Given the description of an element on the screen output the (x, y) to click on. 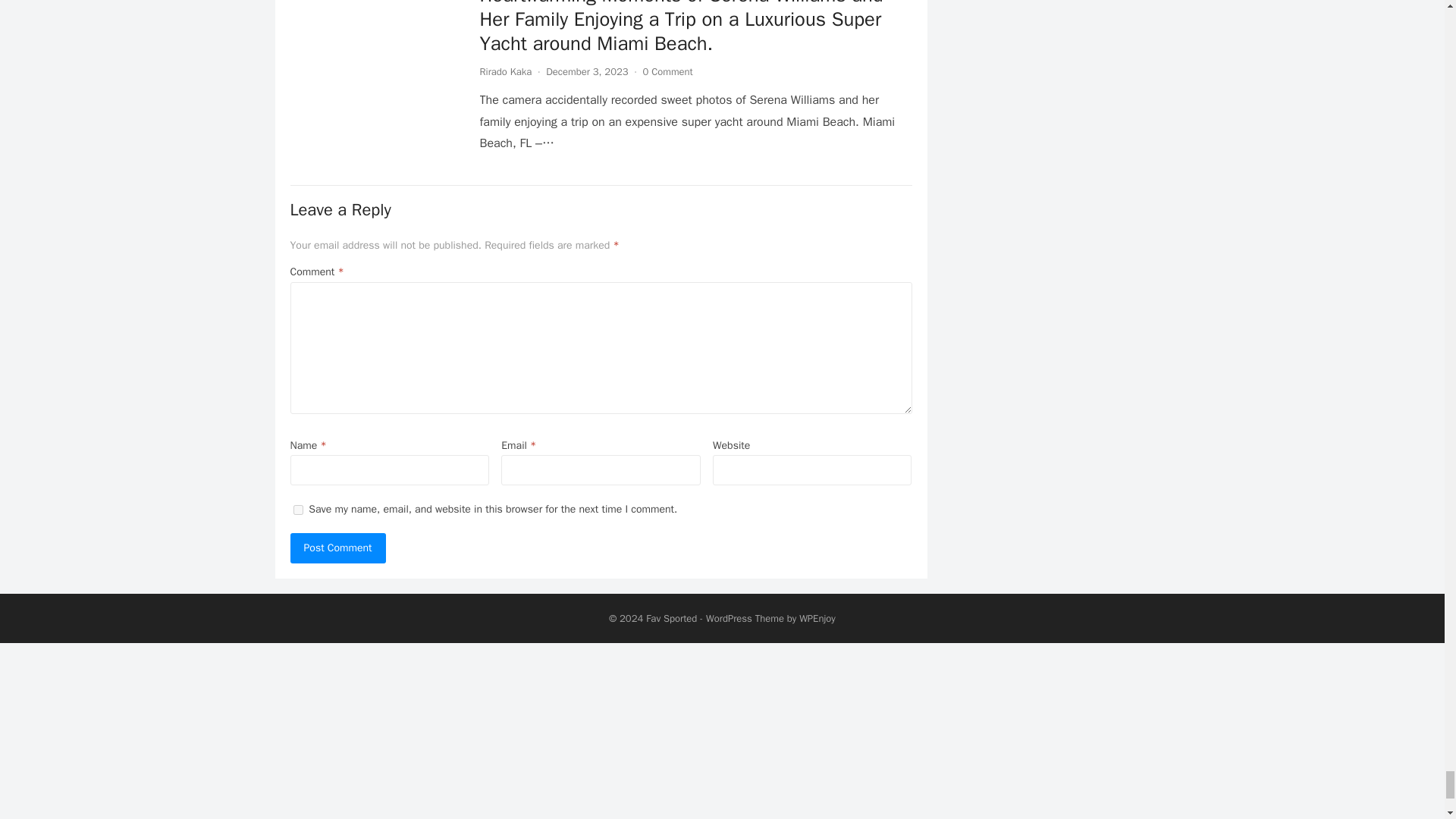
yes (297, 510)
Post Comment (337, 547)
